Given the description of an element on the screen output the (x, y) to click on. 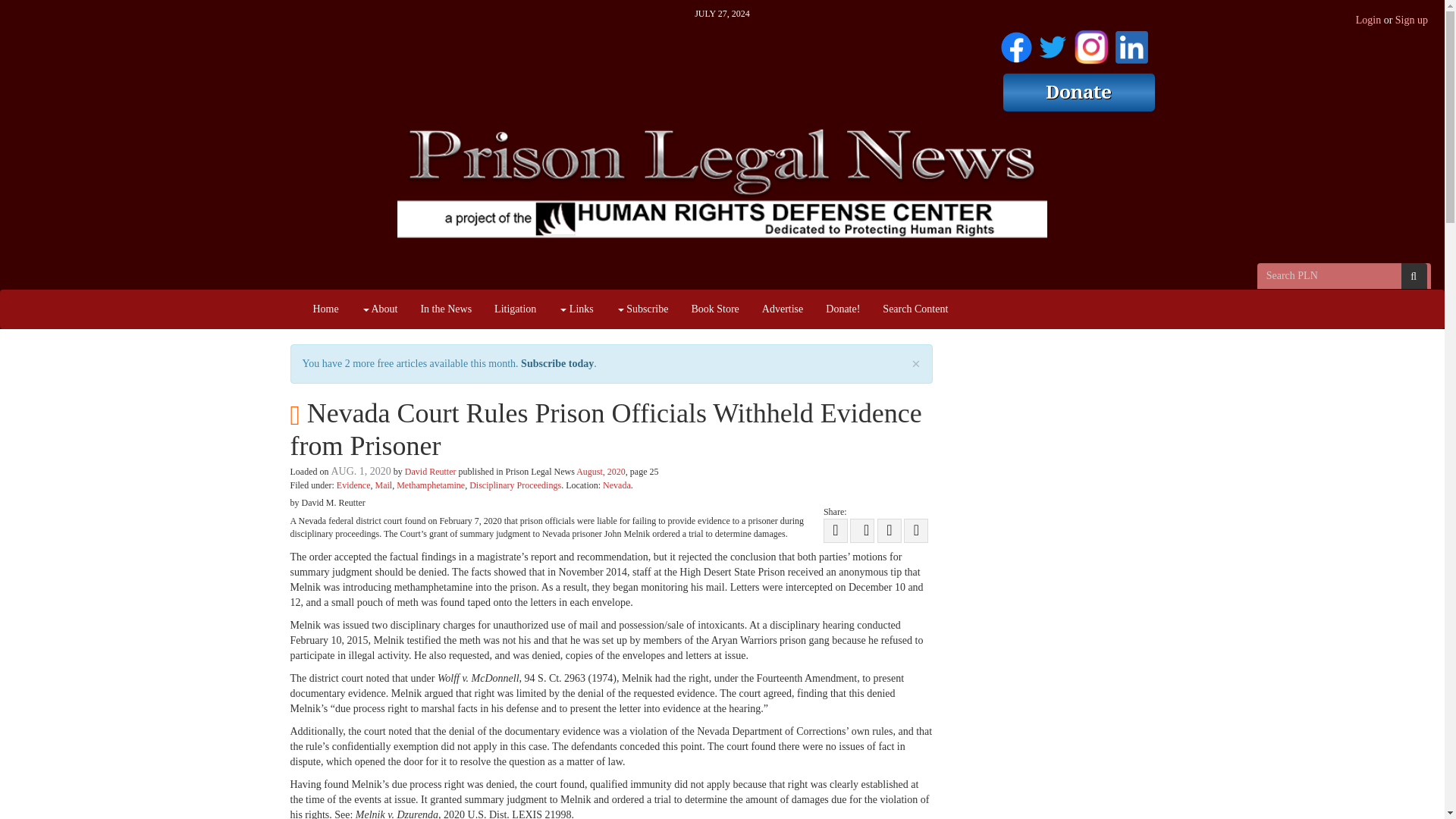
David Reutter (430, 471)
August, 2020 (601, 471)
Paul Wright's LinkedIn Page (1131, 44)
Subscribe today (557, 363)
HRDC Instagram Page (1091, 44)
Links (575, 309)
Book Store (714, 309)
Login (1367, 19)
Donate! (841, 309)
Search Content (914, 309)
Subscribe (642, 309)
Litigation (515, 309)
Search (1413, 275)
About (379, 309)
Prison Legal News FaceBook Page (1016, 44)
